Given the description of an element on the screen output the (x, y) to click on. 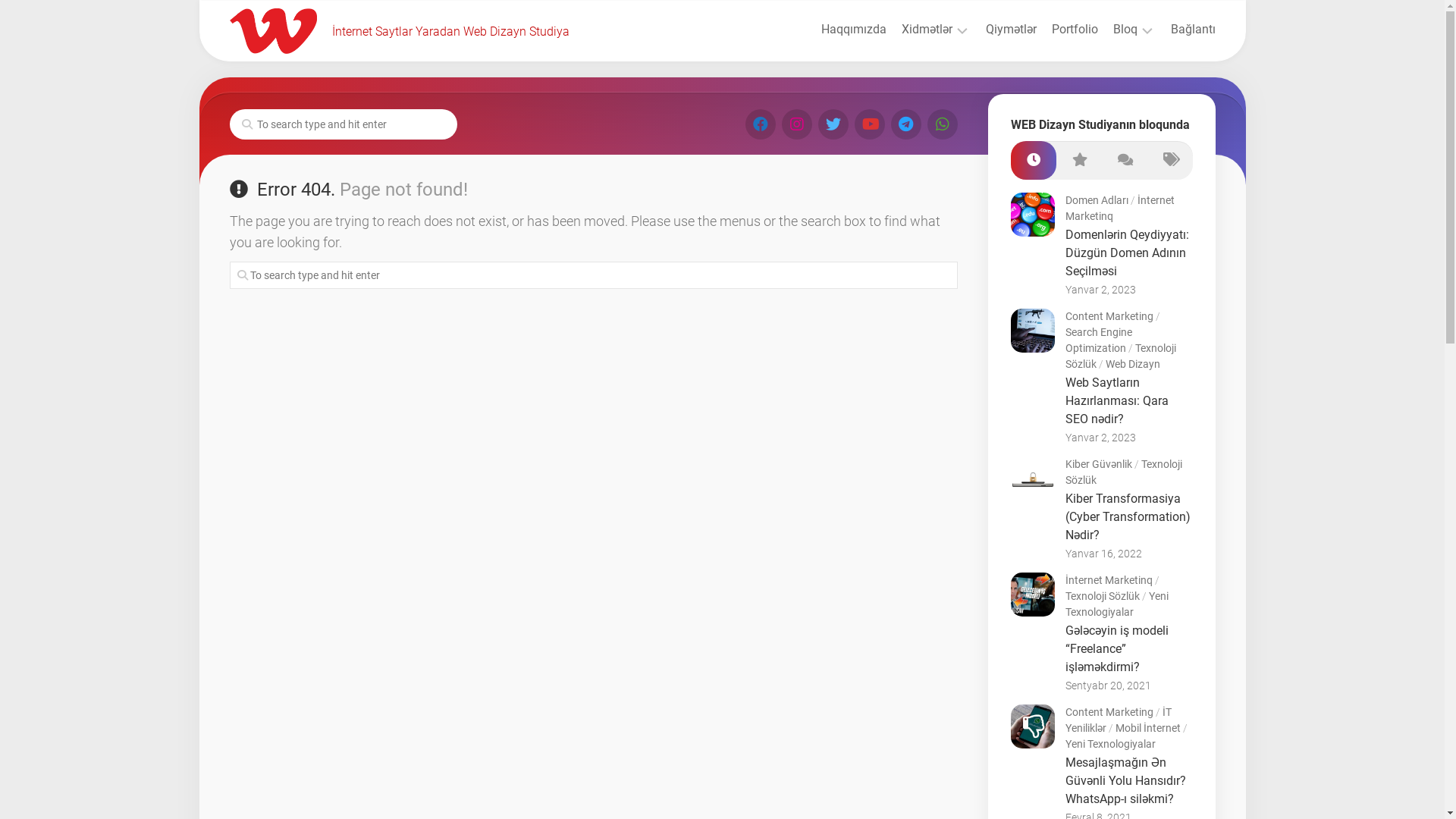
Recent Comments Element type: hover (1123, 160)
Portfolio Element type: text (1074, 29)
Facebook Element type: hover (759, 124)
Content Marketing Element type: text (1108, 712)
Tags Element type: hover (1169, 160)
Search Engine Optimization Element type: text (1097, 340)
Twitter Element type: hover (832, 124)
Telegram Element type: hover (905, 124)
Recent Posts Element type: hover (1032, 160)
WhatsApp Element type: hover (941, 124)
Bloq Element type: text (1125, 29)
Content Marketing Element type: text (1108, 316)
YouTube Element type: hover (868, 124)
Instagram Element type: hover (796, 124)
Popular Posts Element type: hover (1078, 160)
Yeni Texnologiyalar Element type: text (1109, 743)
Web Dizayn Element type: text (1132, 363)
Yeni Texnologiyalar Element type: text (1115, 603)
